Given the description of an element on the screen output the (x, y) to click on. 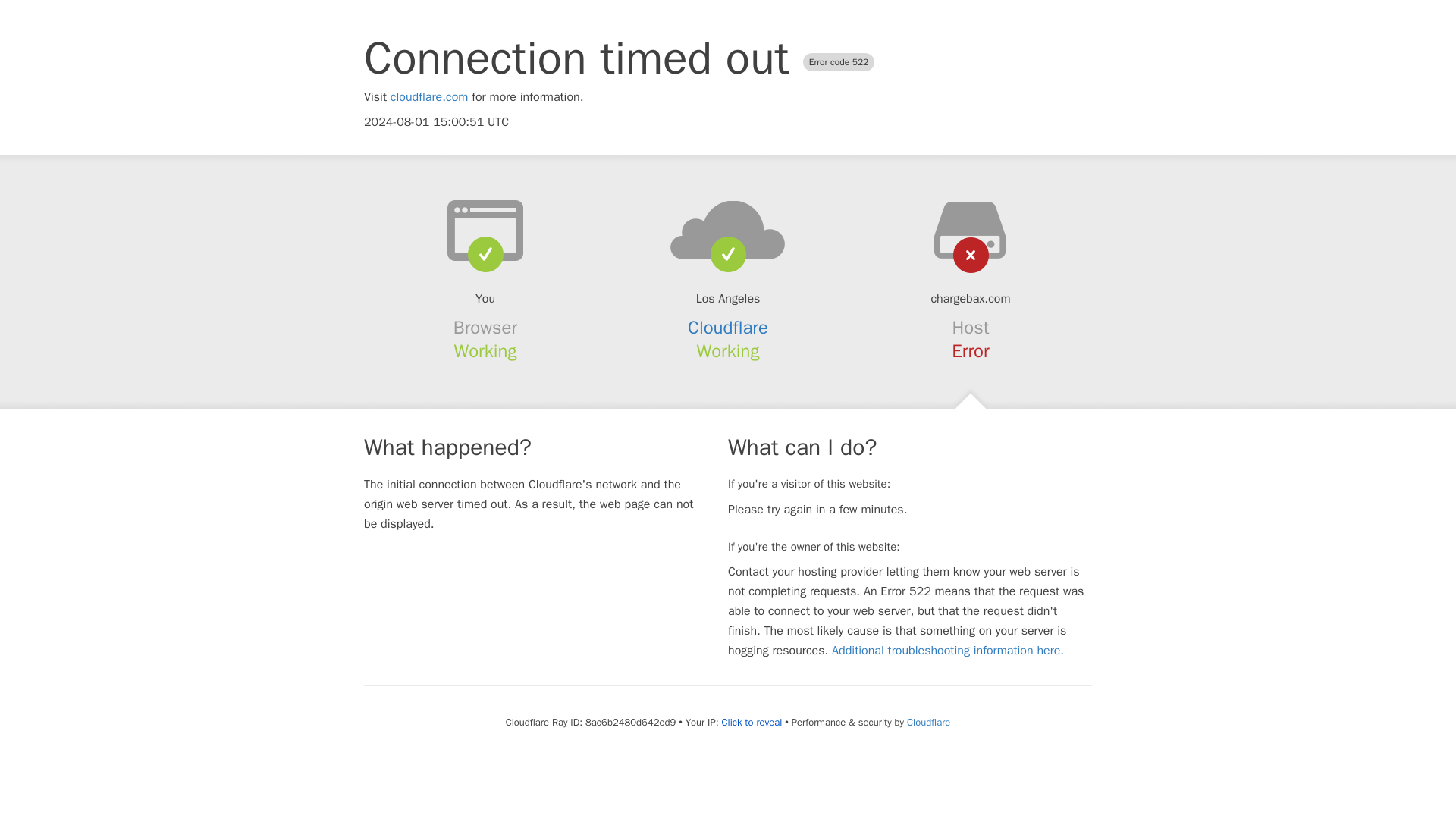
Cloudflare (727, 327)
cloudflare.com (429, 96)
Cloudflare (928, 721)
Additional troubleshooting information here. (947, 650)
Click to reveal (750, 722)
